Given the description of an element on the screen output the (x, y) to click on. 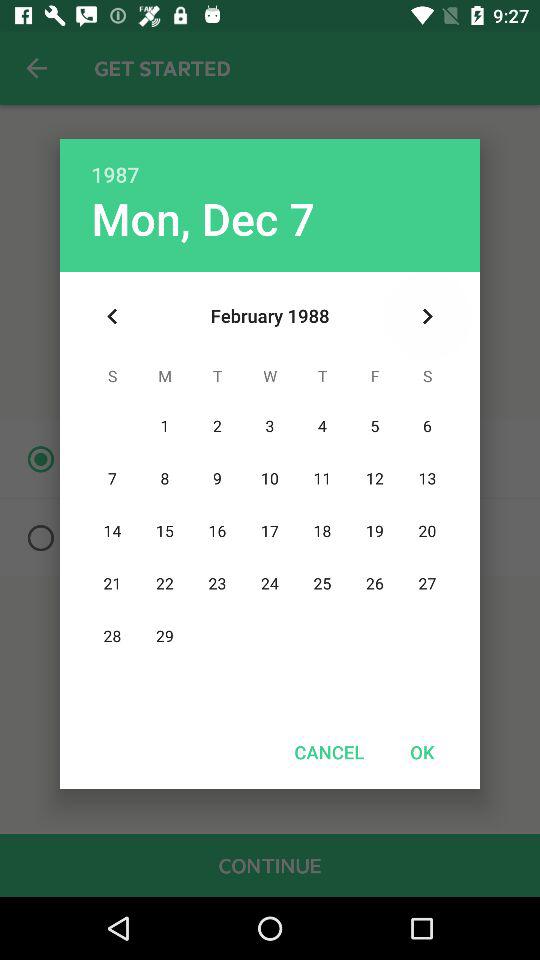
flip to 1987 (269, 163)
